Given the description of an element on the screen output the (x, y) to click on. 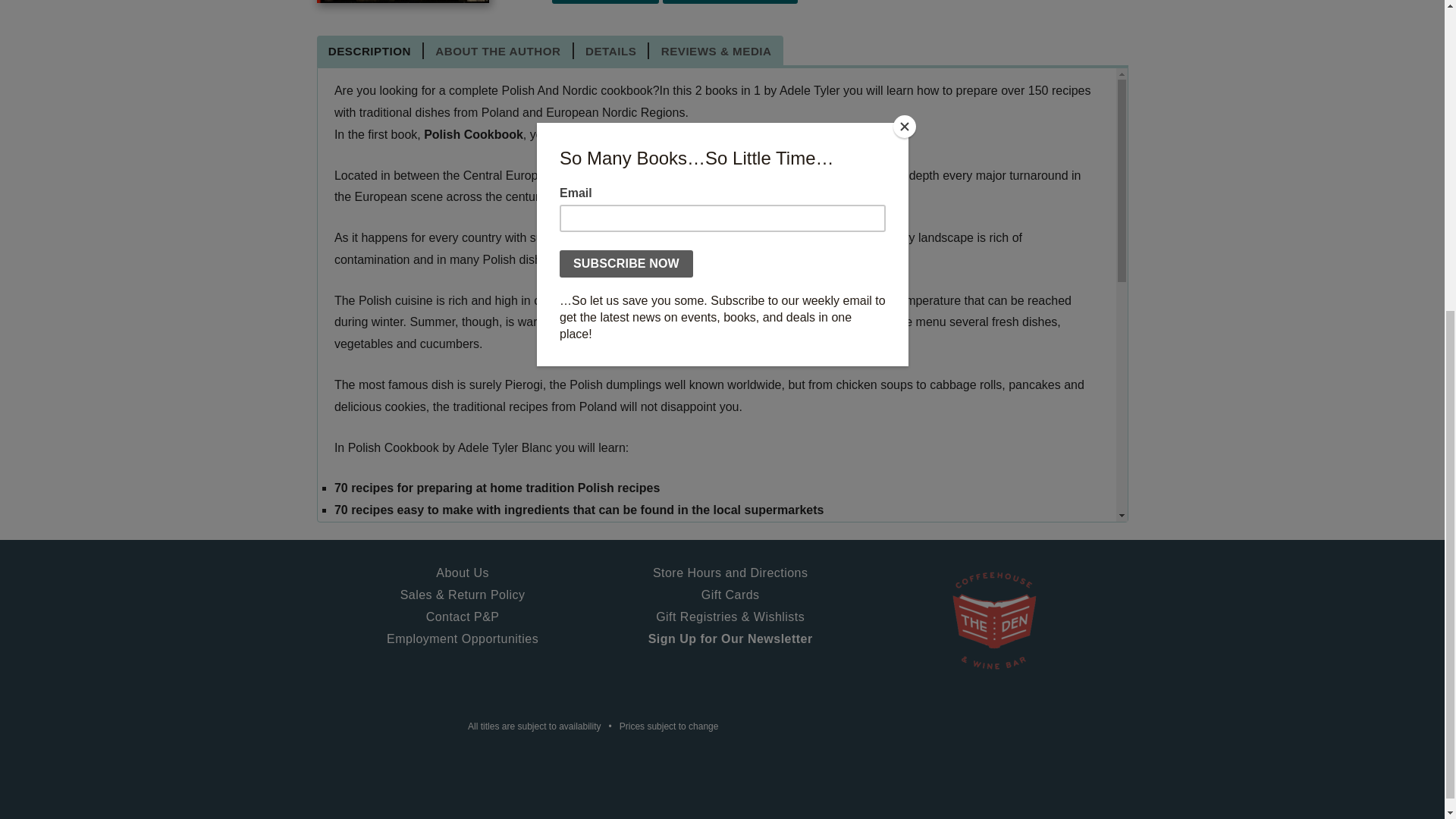
Add to Wish List (729, 2)
Add to Cart (605, 2)
